Given the description of an element on the screen output the (x, y) to click on. 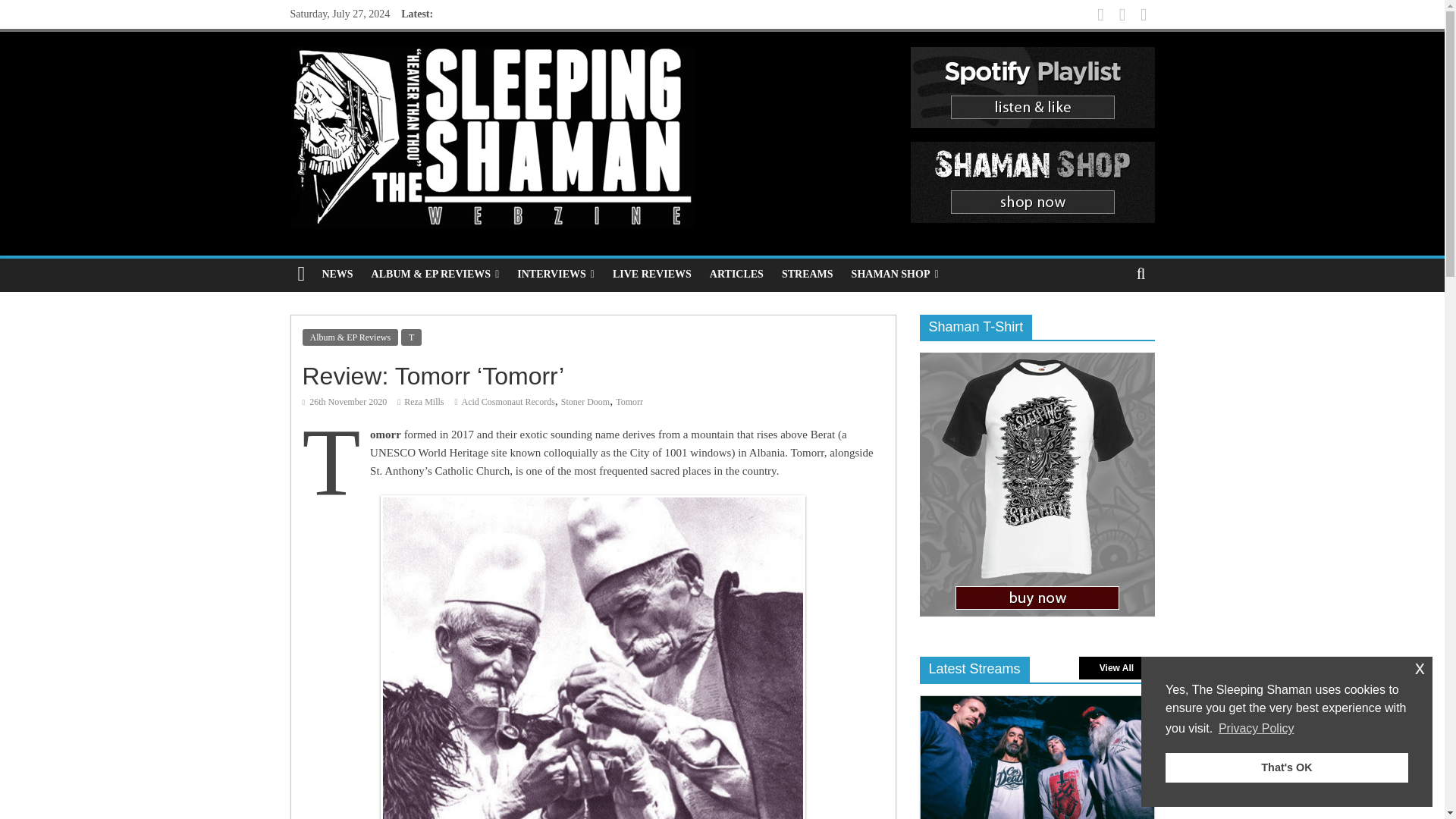
NEWS (337, 274)
Reza Mills (424, 401)
10:00 am (344, 401)
